Given the description of an element on the screen output the (x, y) to click on. 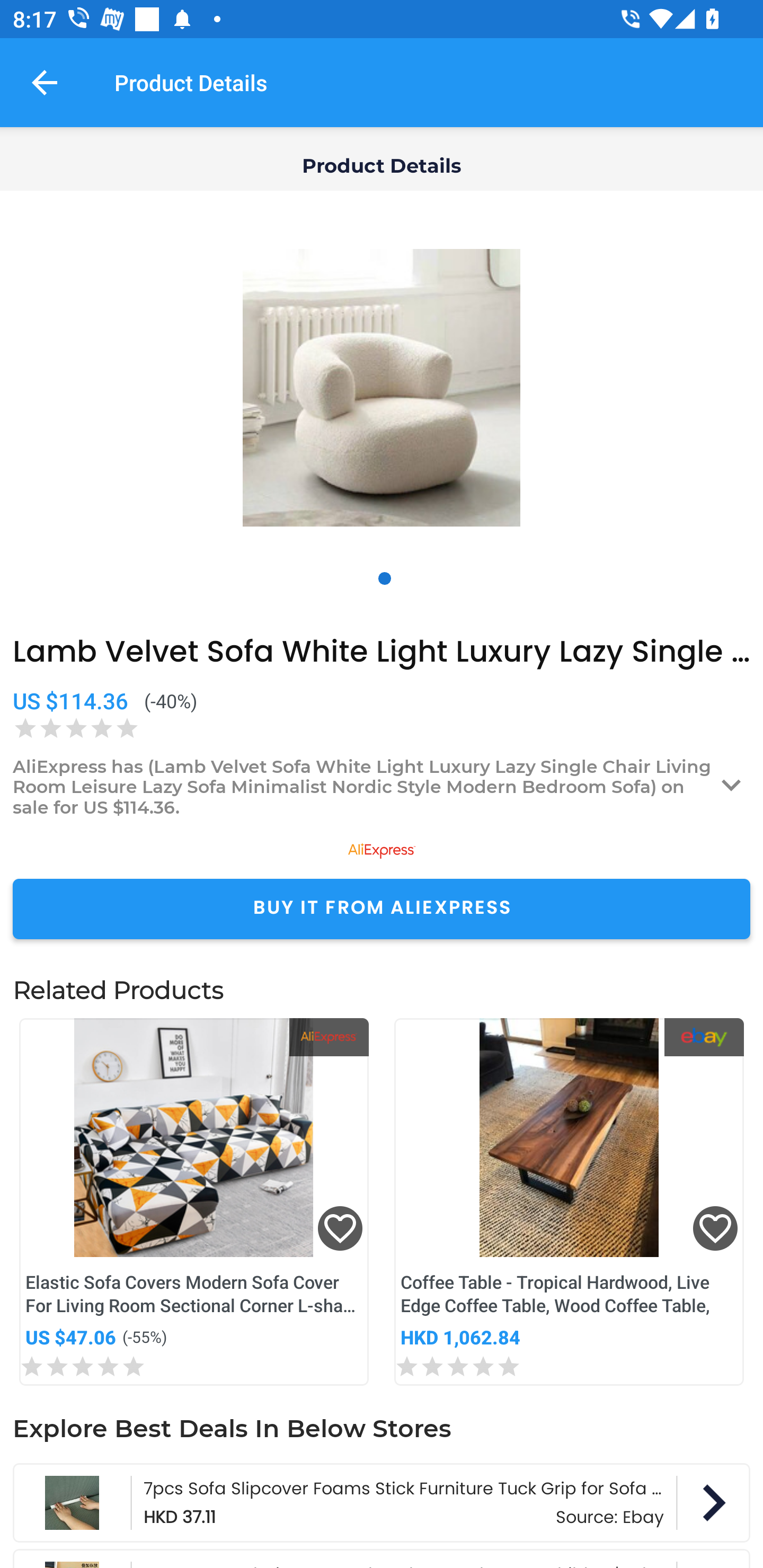
Navigate up (44, 82)
BUY IT FROM ALIEXPRESS (381, 908)
